Given the description of an element on the screen output the (x, y) to click on. 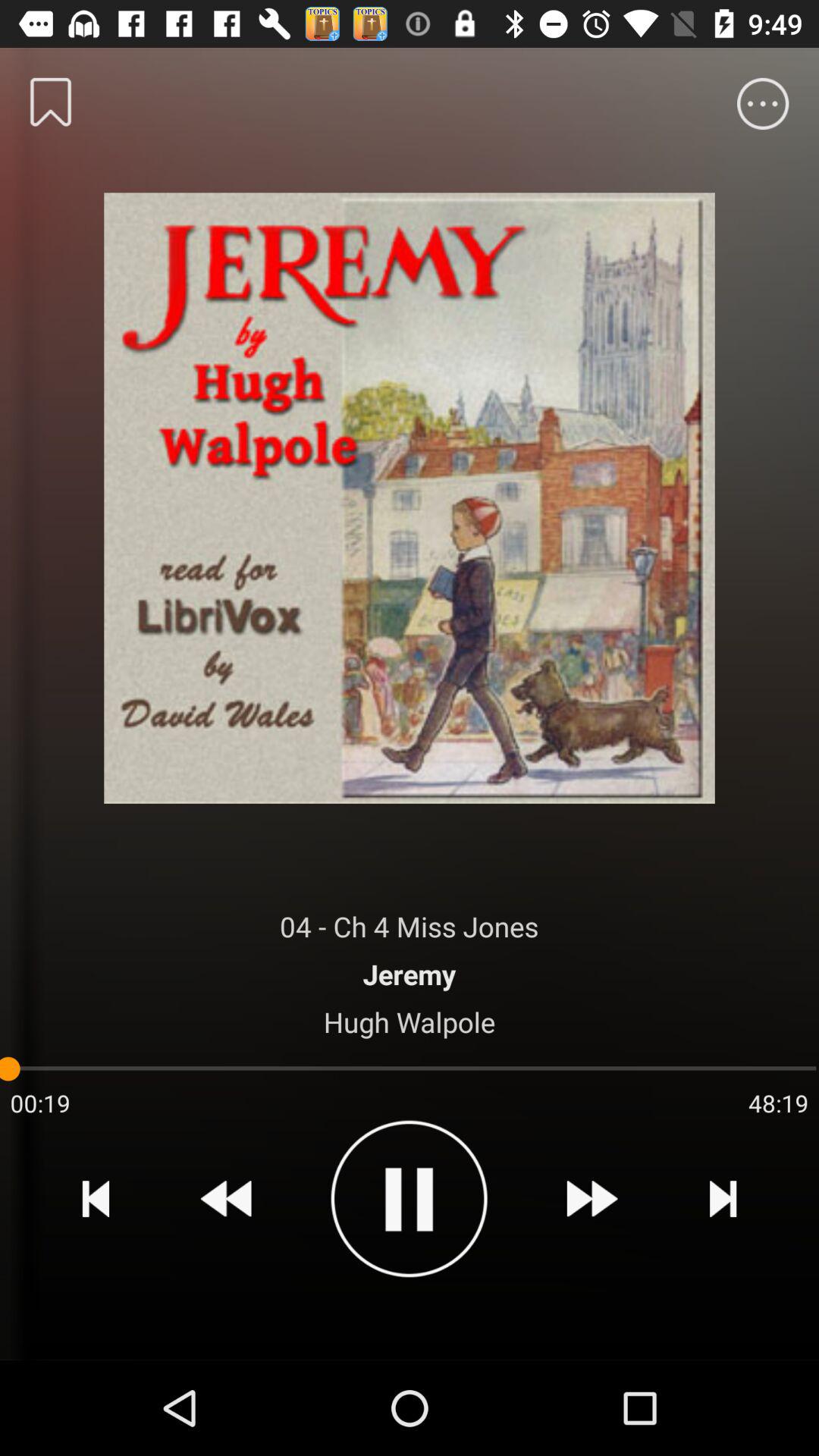
turn off item above jeremy icon (408, 926)
